Given the description of an element on the screen output the (x, y) to click on. 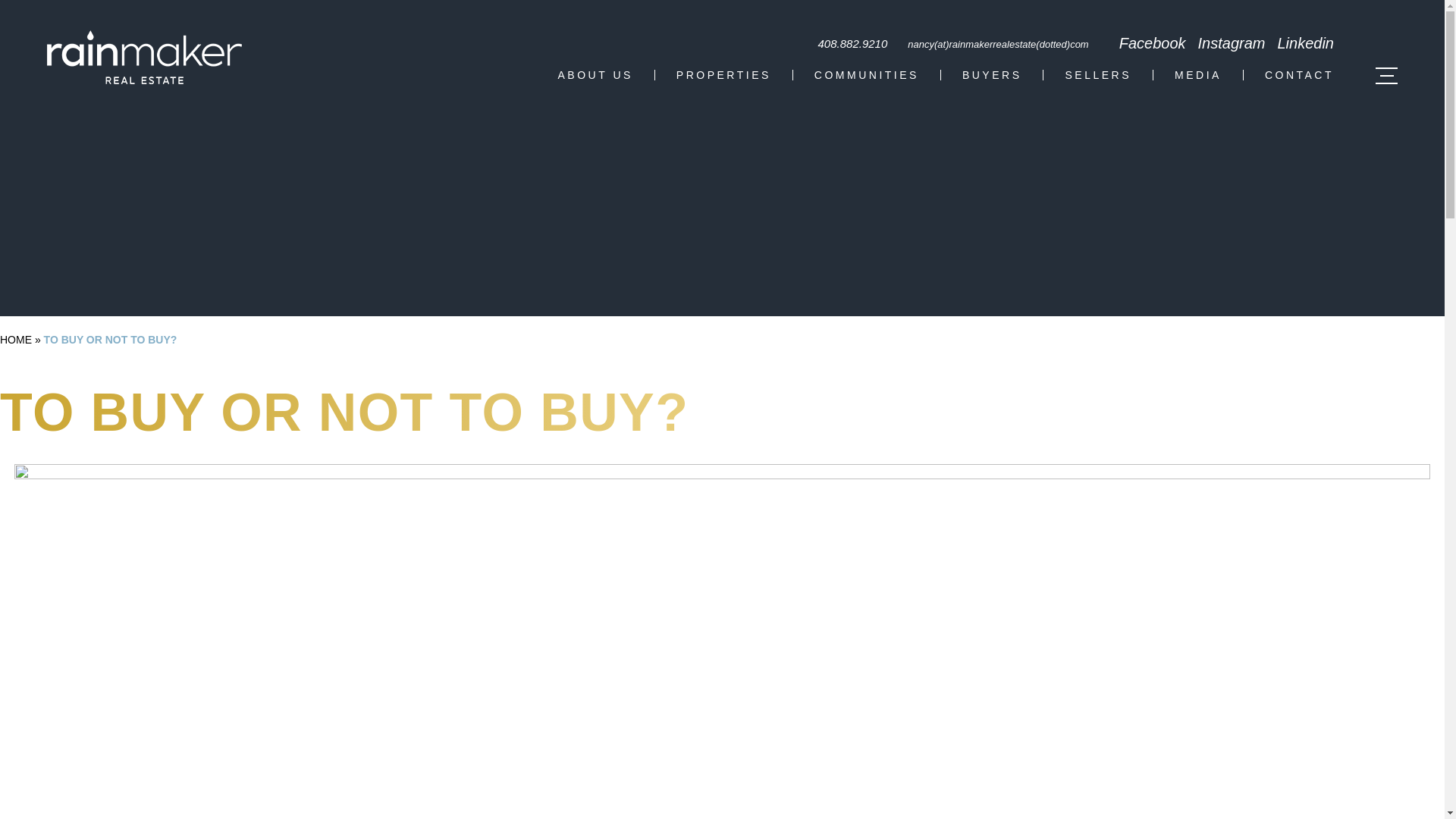
ABOUT US (595, 74)
Facebook (1152, 43)
BUYERS (992, 74)
COMMUNITIES (865, 74)
PROPERTIES (724, 74)
408.882.9210 (851, 42)
Linkedin (1304, 43)
Instagram (1231, 43)
